Given the description of an element on the screen output the (x, y) to click on. 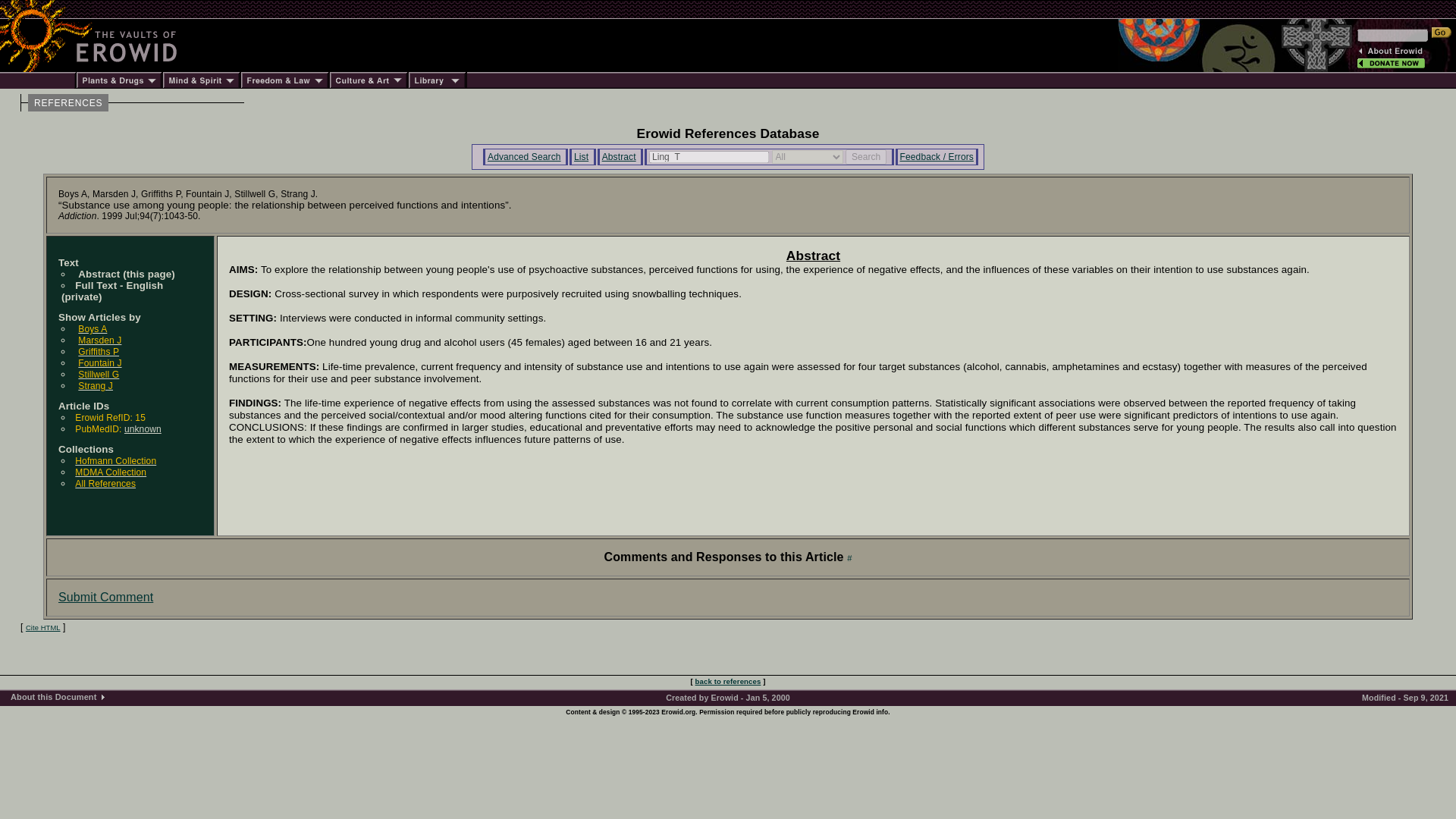
Search (865, 156)
Search (865, 156)
